Given the description of an element on the screen output the (x, y) to click on. 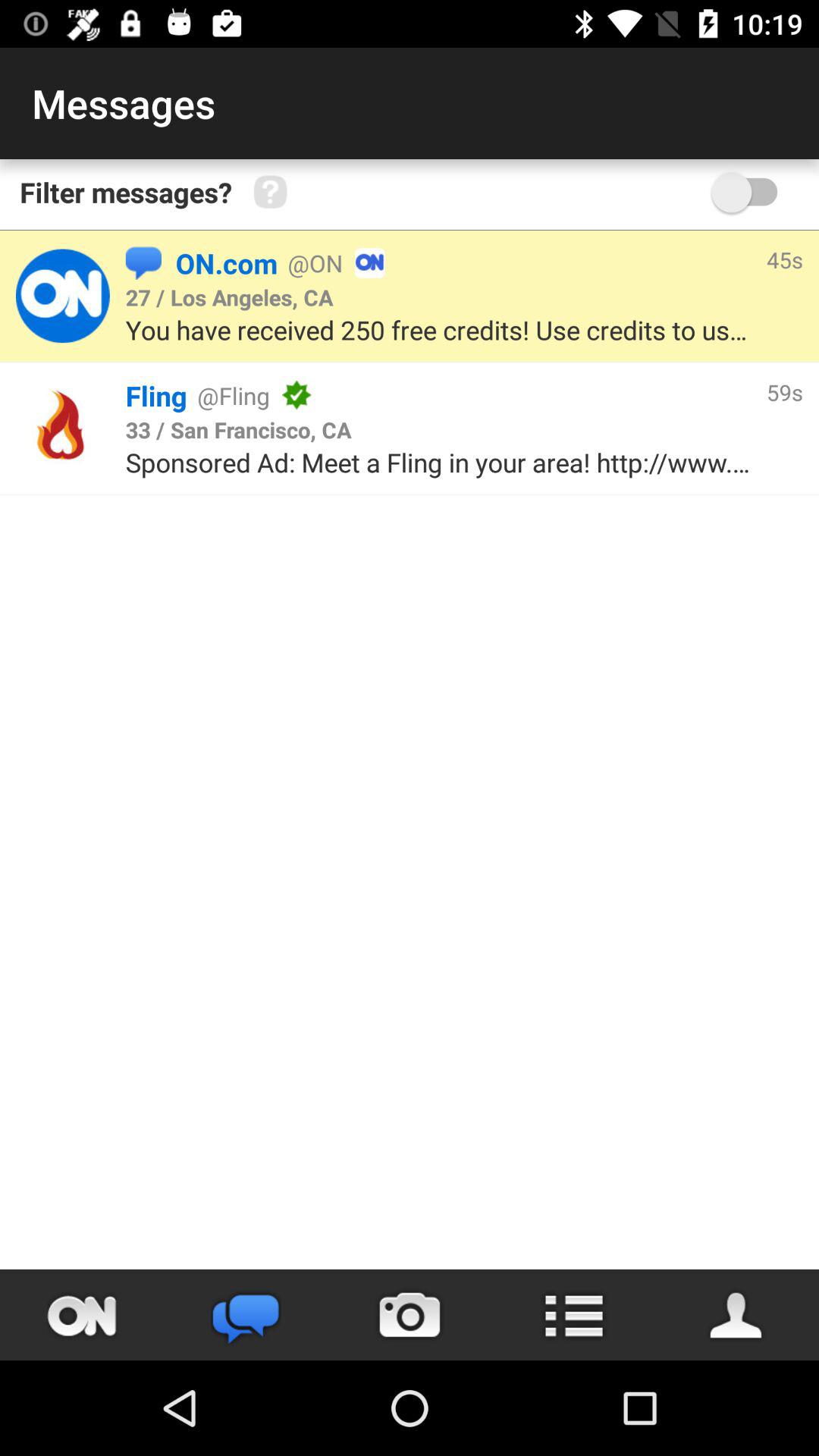
open menu (573, 1315)
